Given the description of an element on the screen output the (x, y) to click on. 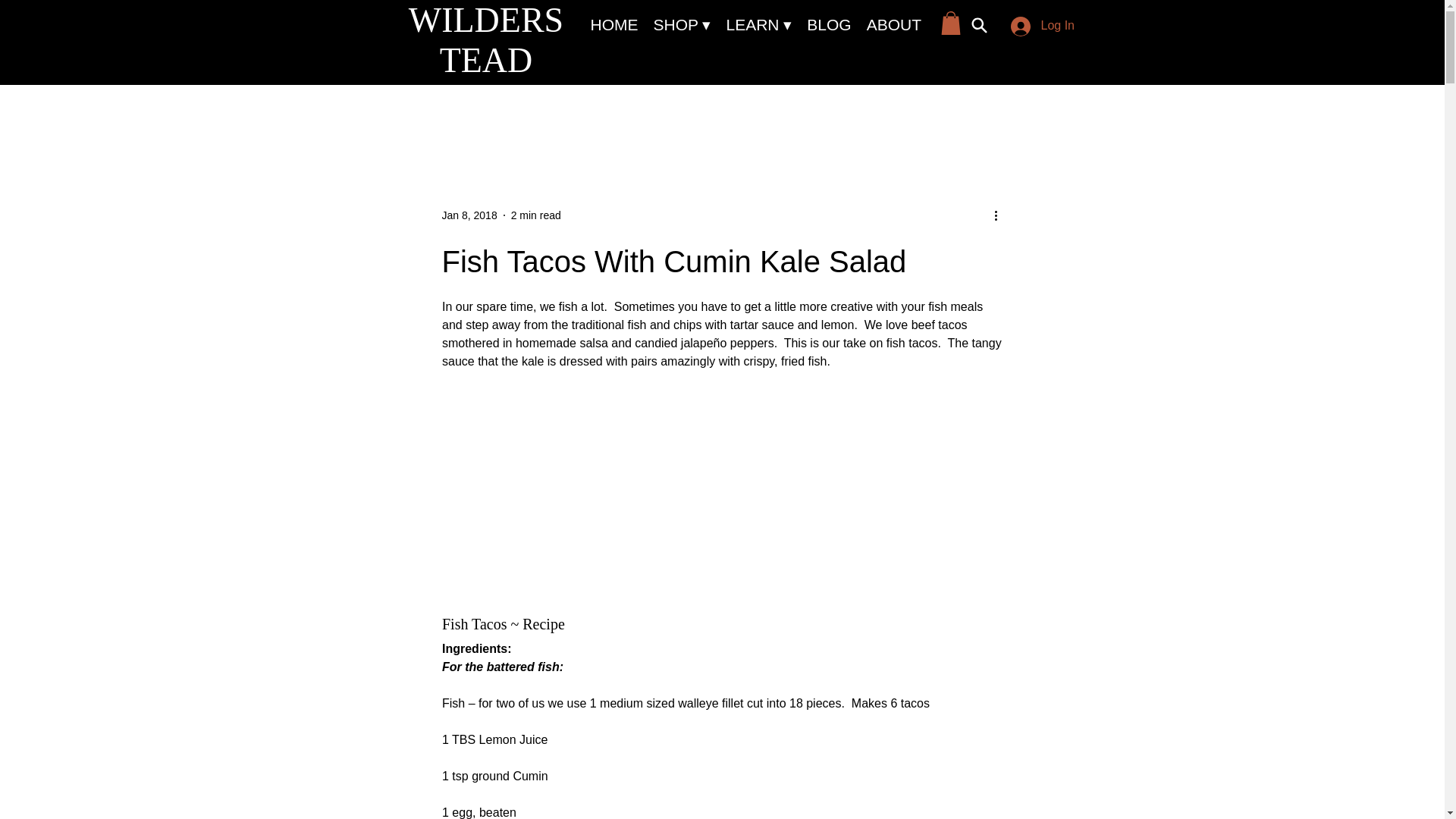
Log In (1036, 26)
2 min read (535, 215)
HOME (613, 24)
WILDERSTEAD (486, 39)
CONTACT (974, 24)
BLOG (829, 24)
ABOUT (893, 24)
Jan 8, 2018 (468, 215)
